Given the description of an element on the screen output the (x, y) to click on. 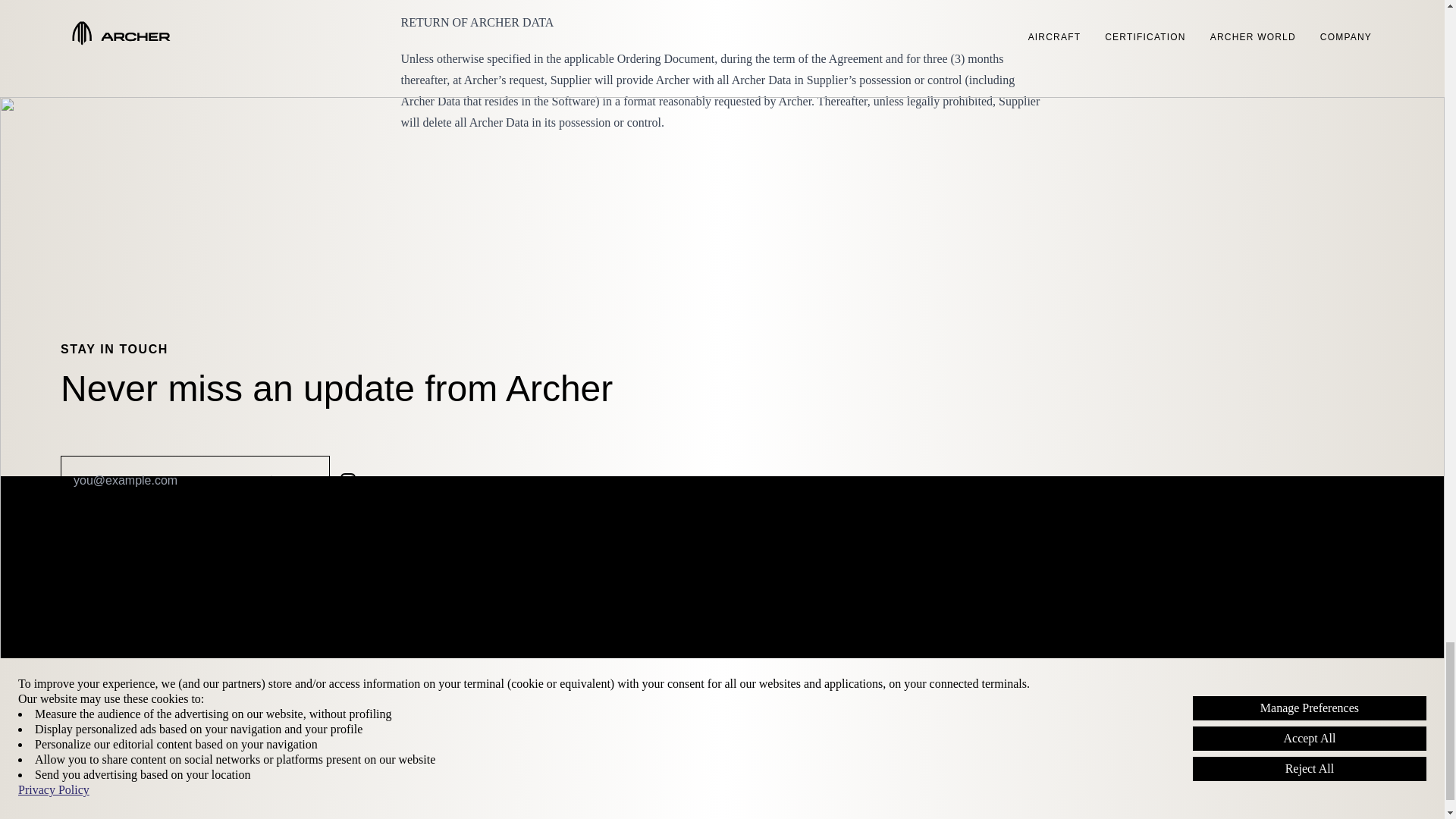
Company (424, 630)
Careers (420, 666)
Legal (1094, 630)
Privacy Policy (1115, 757)
Supplier Quality Requirements (1160, 739)
Cookie Settings (1121, 666)
Archer World (94, 720)
Investors (424, 648)
Environmental Social Governance (1168, 684)
Archer Home (95, 630)
Do Not Sell or Share My Personal Information (1201, 648)
Media Kit (764, 648)
Website Terms of Use (1138, 702)
Aircraft (79, 660)
SUBMIT (292, 480)
